Given the description of an element on the screen output the (x, y) to click on. 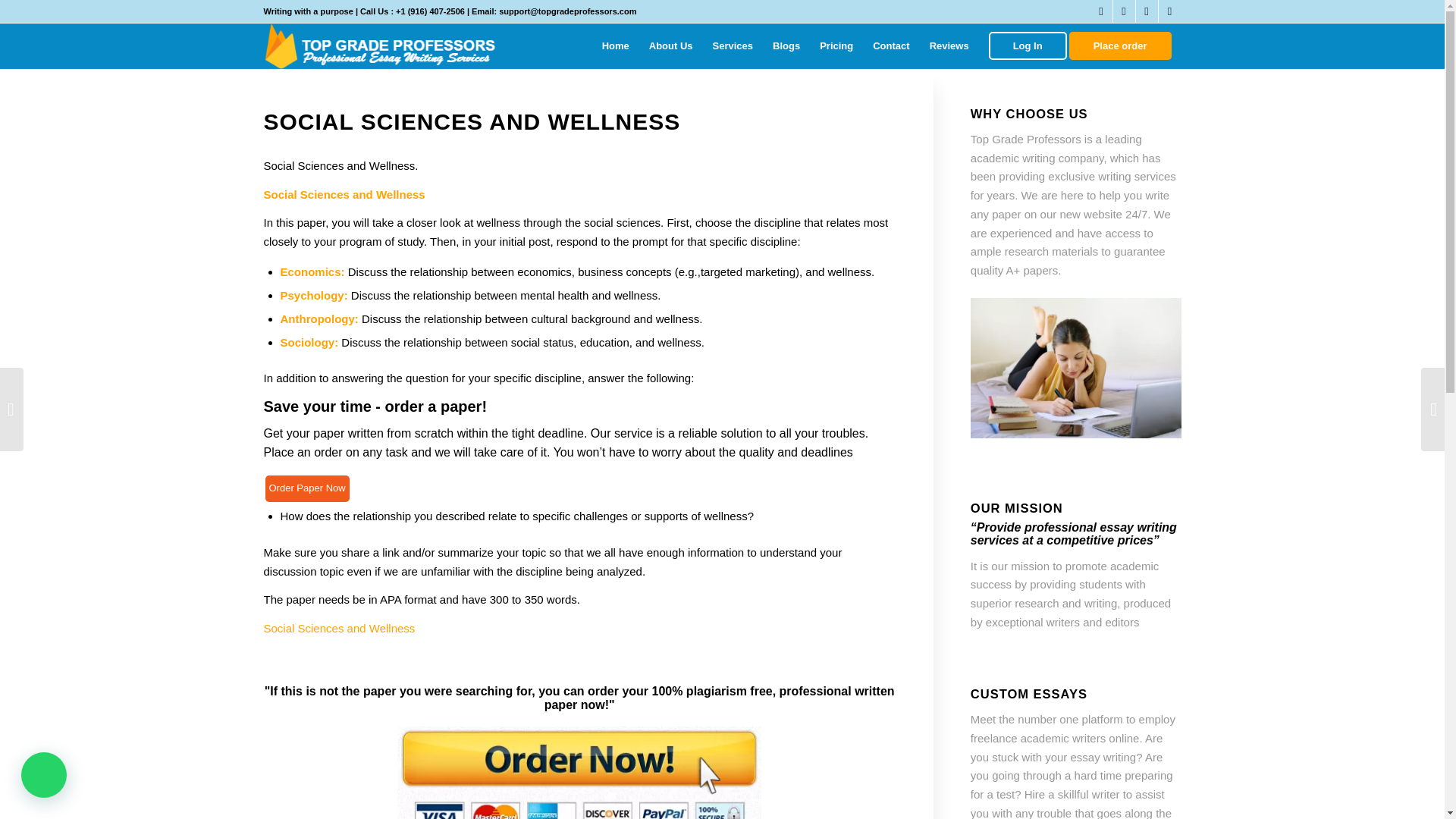
Log In (1027, 45)
Permanent Link: Social Sciences and Wellness (472, 121)
About Us (671, 45)
Pricing (836, 45)
Contact (890, 45)
Twitter (1101, 11)
Facebook (1124, 11)
Home (615, 45)
Reviews (949, 45)
Tumblr (1146, 11)
Blogs (785, 45)
WhatsApp (1169, 11)
Services (732, 45)
